Given the description of an element on the screen output the (x, y) to click on. 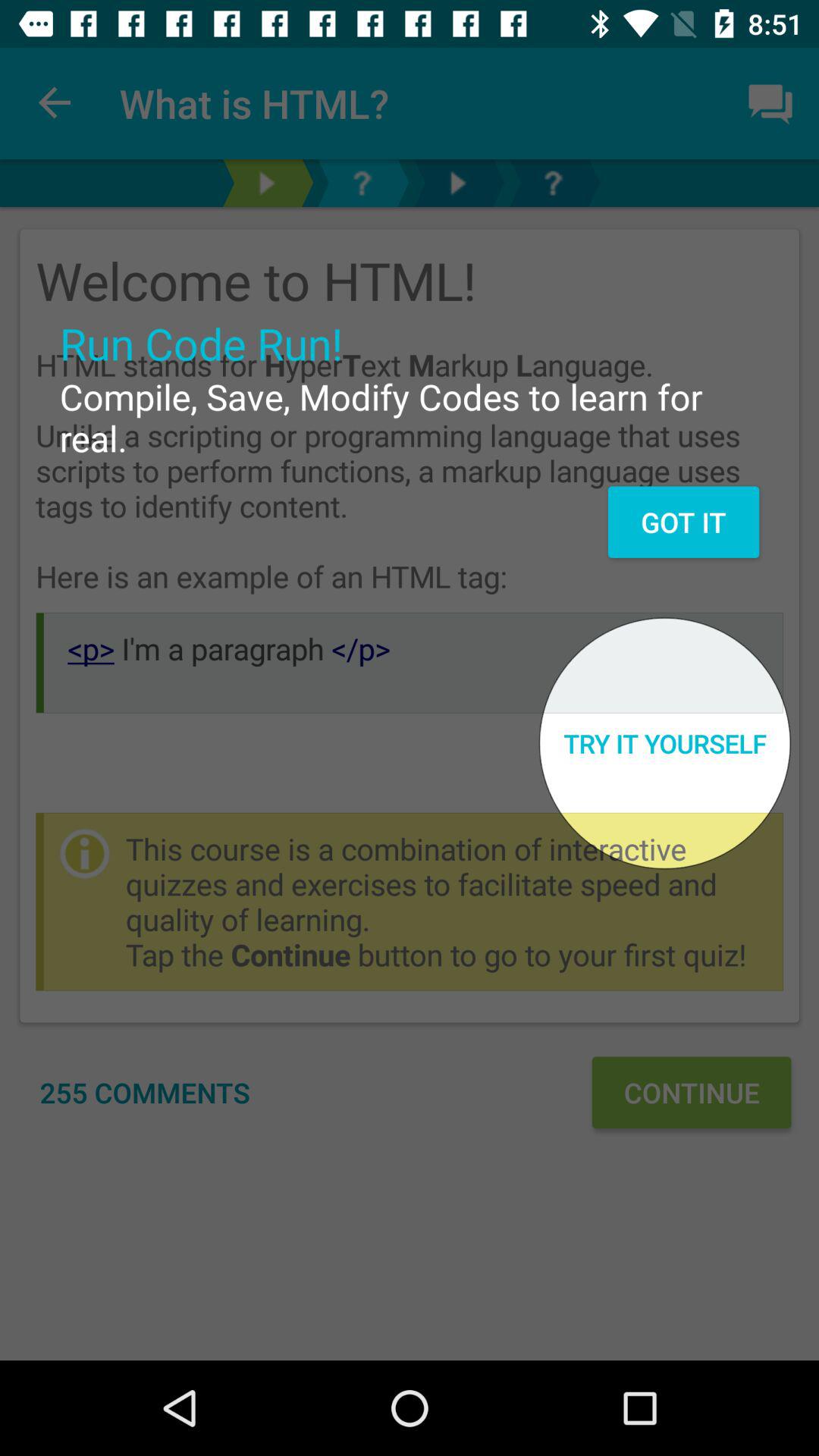
test yourself option (265, 183)
